Given the description of an element on the screen output the (x, y) to click on. 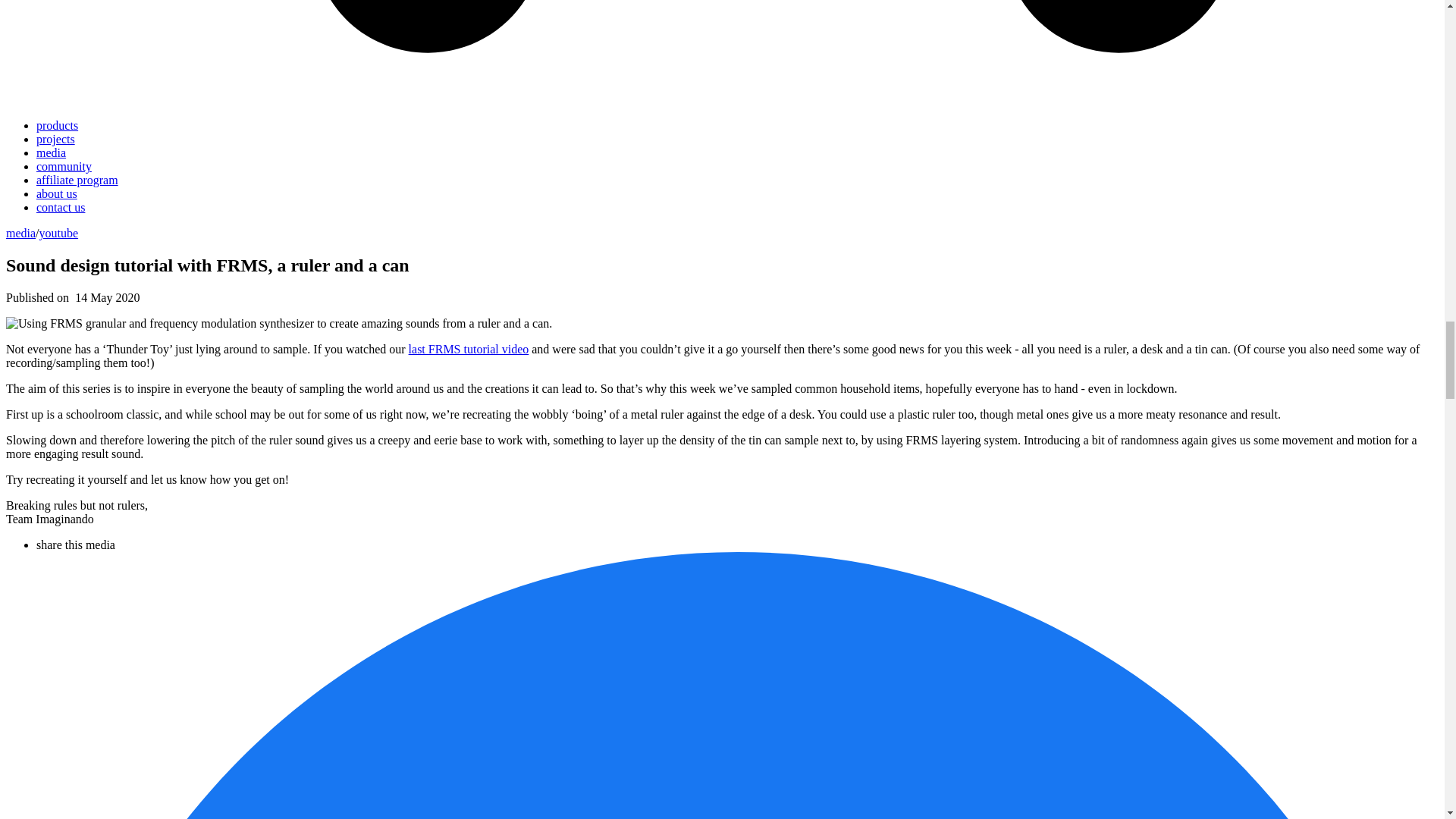
media (50, 152)
products (57, 124)
affiliate program (76, 179)
last FRMS tutorial video (469, 349)
projects (55, 138)
youtube (58, 232)
contact us (60, 206)
about us (56, 193)
community (63, 165)
media (19, 232)
